Given the description of an element on the screen output the (x, y) to click on. 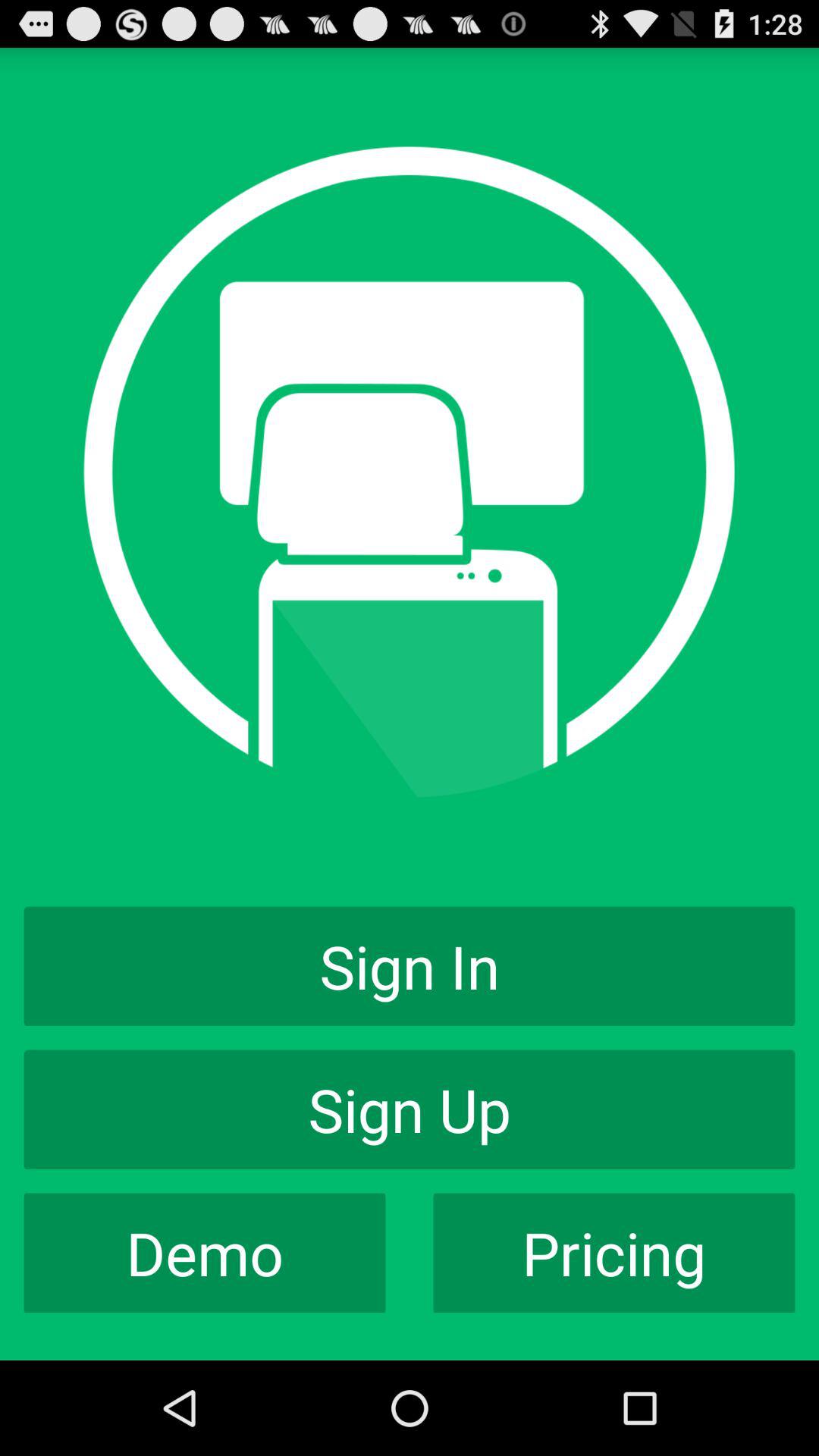
flip to the pricing item (614, 1252)
